Given the description of an element on the screen output the (x, y) to click on. 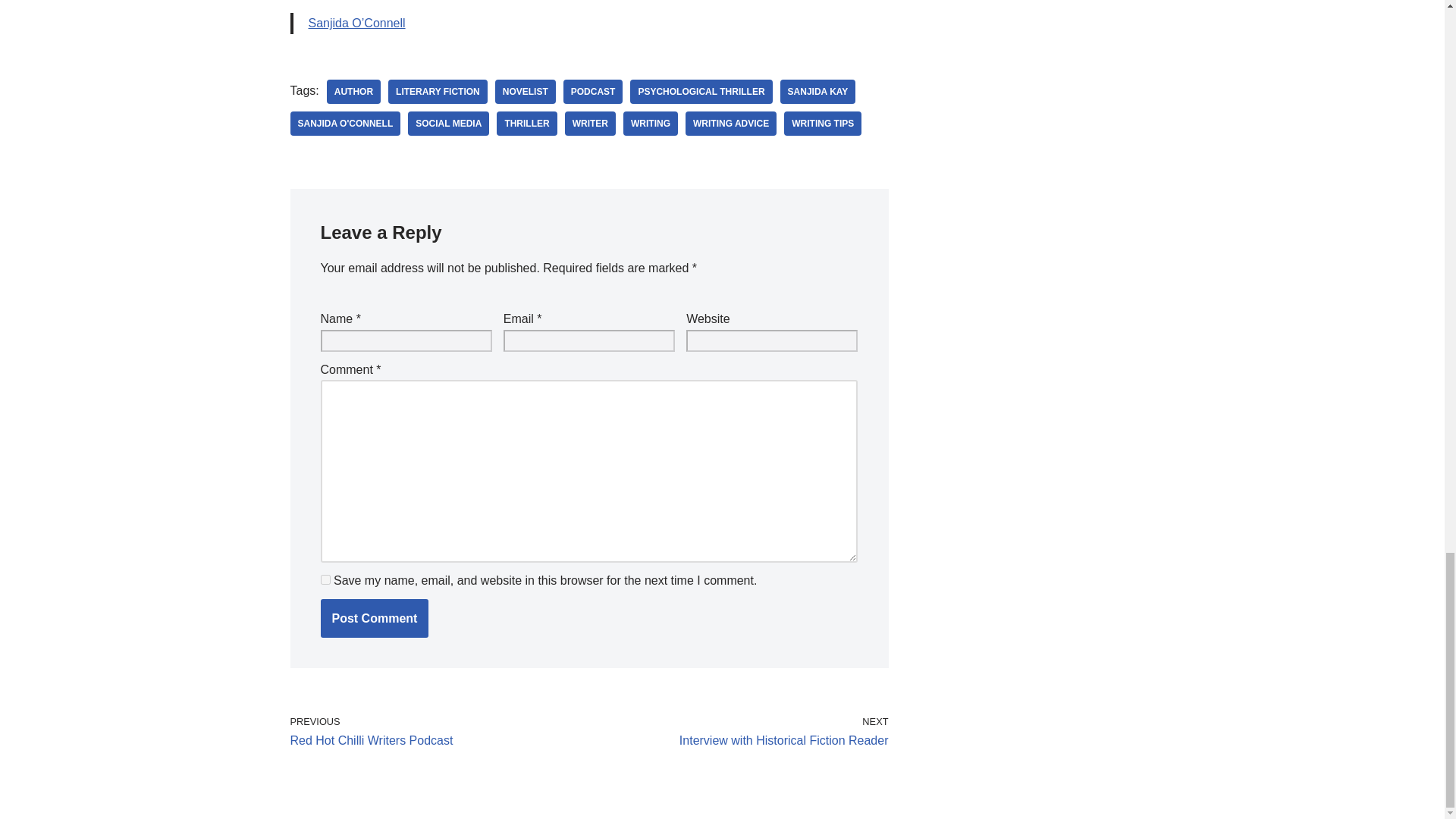
social media (448, 123)
thriller (526, 123)
novelist (525, 91)
literary fiction (437, 91)
Post Comment (374, 618)
Sanjida O'Connell (344, 123)
yes (325, 579)
author (353, 91)
Psychological thriller (700, 91)
podcast (593, 91)
